Given the description of an element on the screen output the (x, y) to click on. 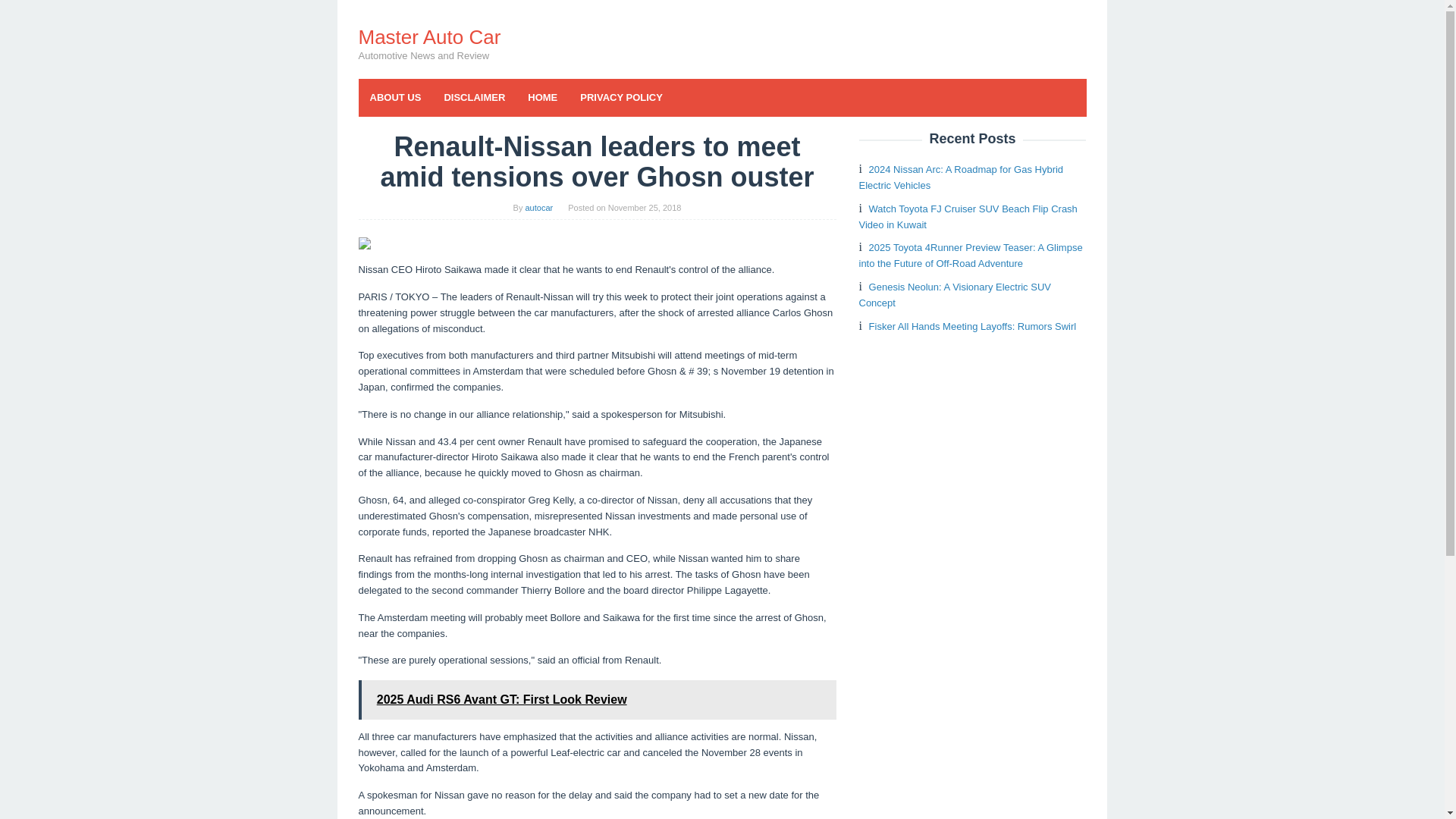
2024 Nissan Arc: A Roadmap for Gas Hybrid Electric Vehicles (960, 176)
  2025 Audi RS6 Avant GT: First Look Review (596, 699)
Master Auto Car (429, 36)
DISCLAIMER (474, 97)
HOME (542, 97)
Watch Toyota FJ Cruiser SUV Beach Flip Crash Video in Kuwait (968, 216)
Permalink to: autocar (538, 207)
ABOUT US (395, 97)
PRIVACY POLICY (621, 97)
Master Auto Car (429, 36)
Fisker All Hands Meeting Layoffs: Rumors Swirl (973, 326)
autocar (538, 207)
Genesis Neolun: A Visionary Electric SUV Concept (954, 294)
